Given the description of an element on the screen output the (x, y) to click on. 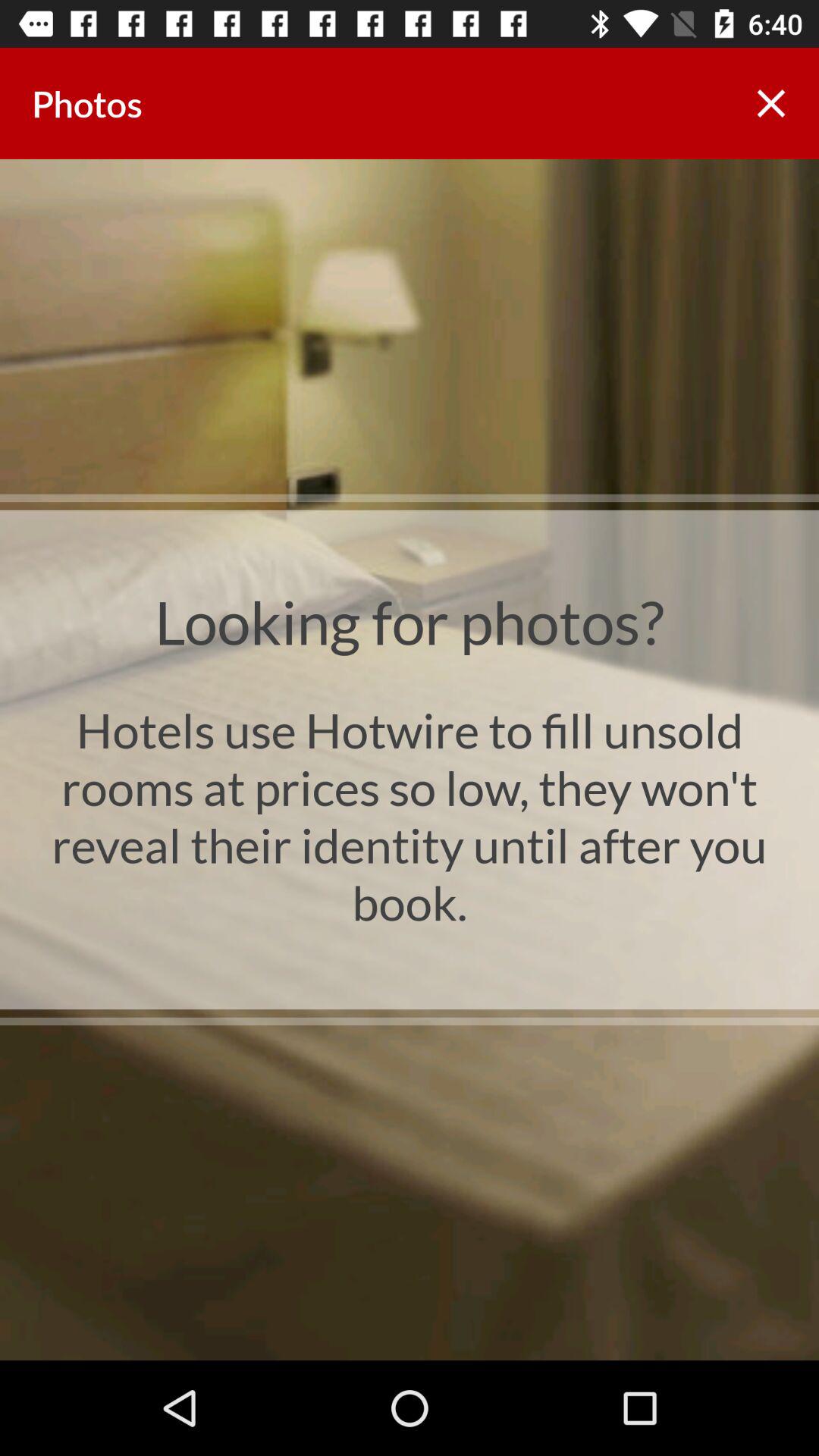
click the item to the right of photos app (771, 103)
